Given the description of an element on the screen output the (x, y) to click on. 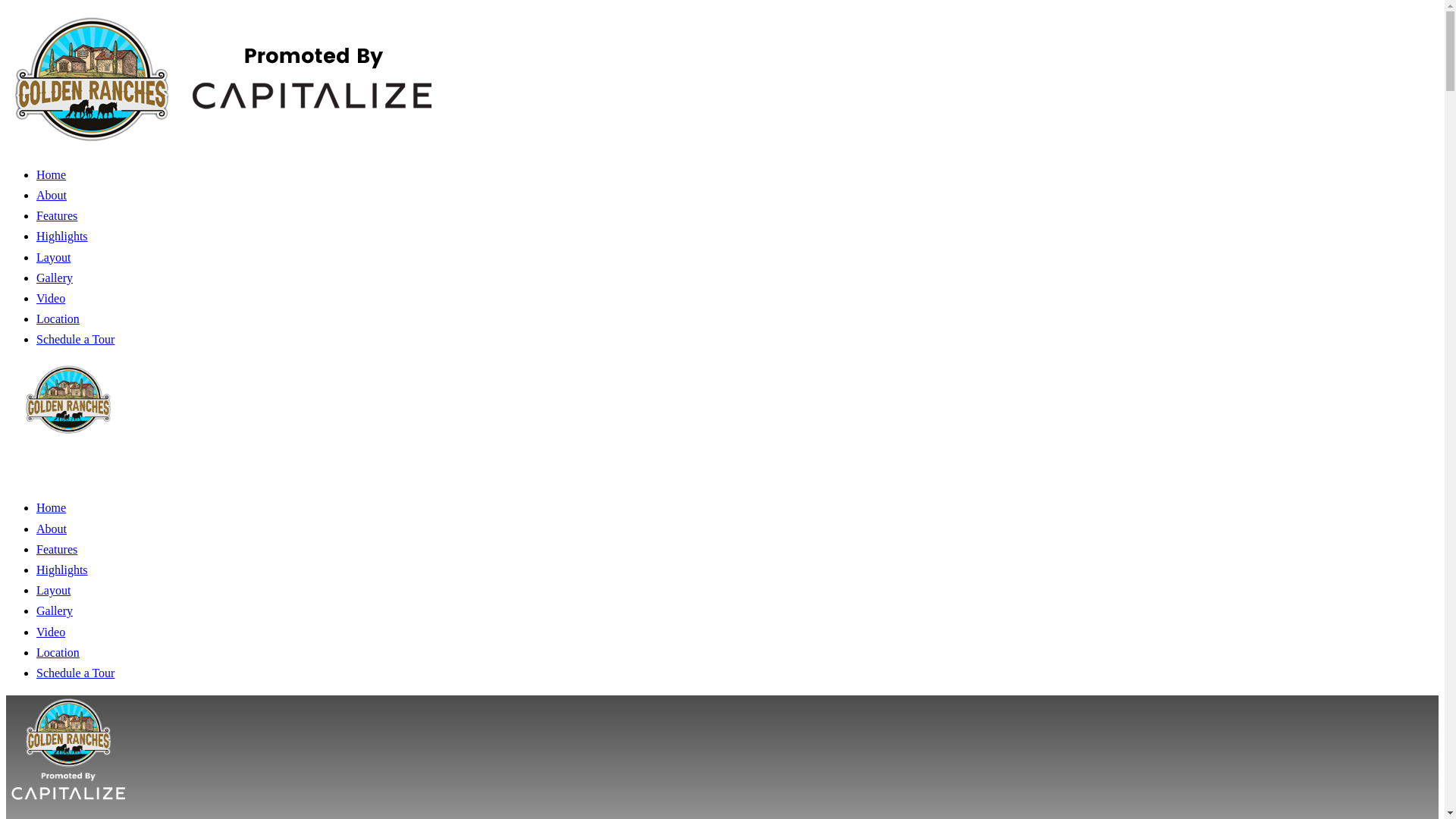
Video (50, 297)
Home (50, 174)
Features (56, 549)
Gallery (54, 277)
Schedule a Tour (75, 338)
Schedule a Tour (75, 672)
Golden Ranches (66, 473)
Layout (52, 590)
Golden Ranches (66, 807)
Highlights (61, 569)
Location (58, 318)
Video (50, 631)
Highlights (61, 236)
Home (50, 507)
Features (56, 215)
